Given the description of an element on the screen output the (x, y) to click on. 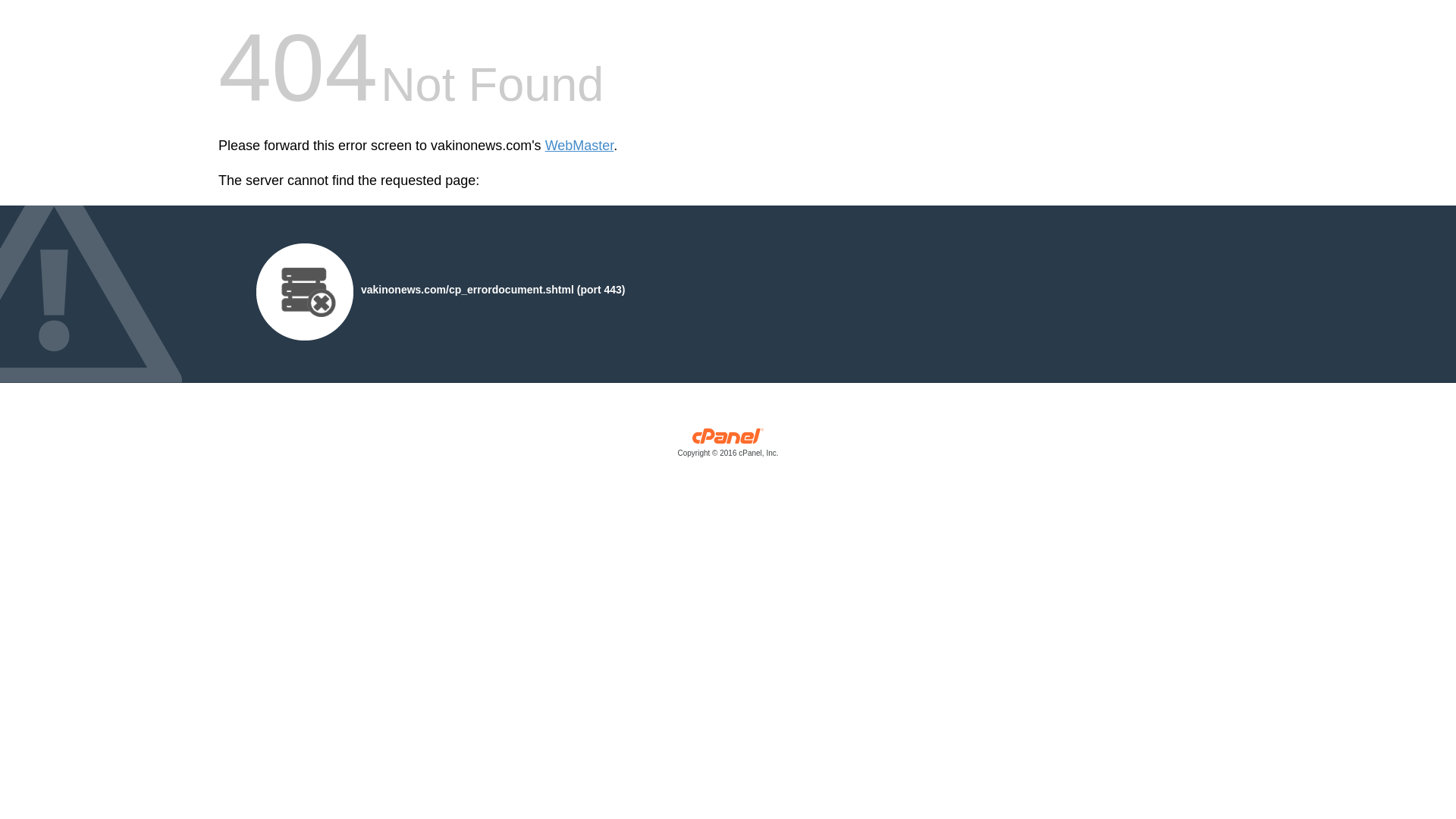
cPanel, Inc. (727, 446)
WebMaster (579, 145)
